Given the description of an element on the screen output the (x, y) to click on. 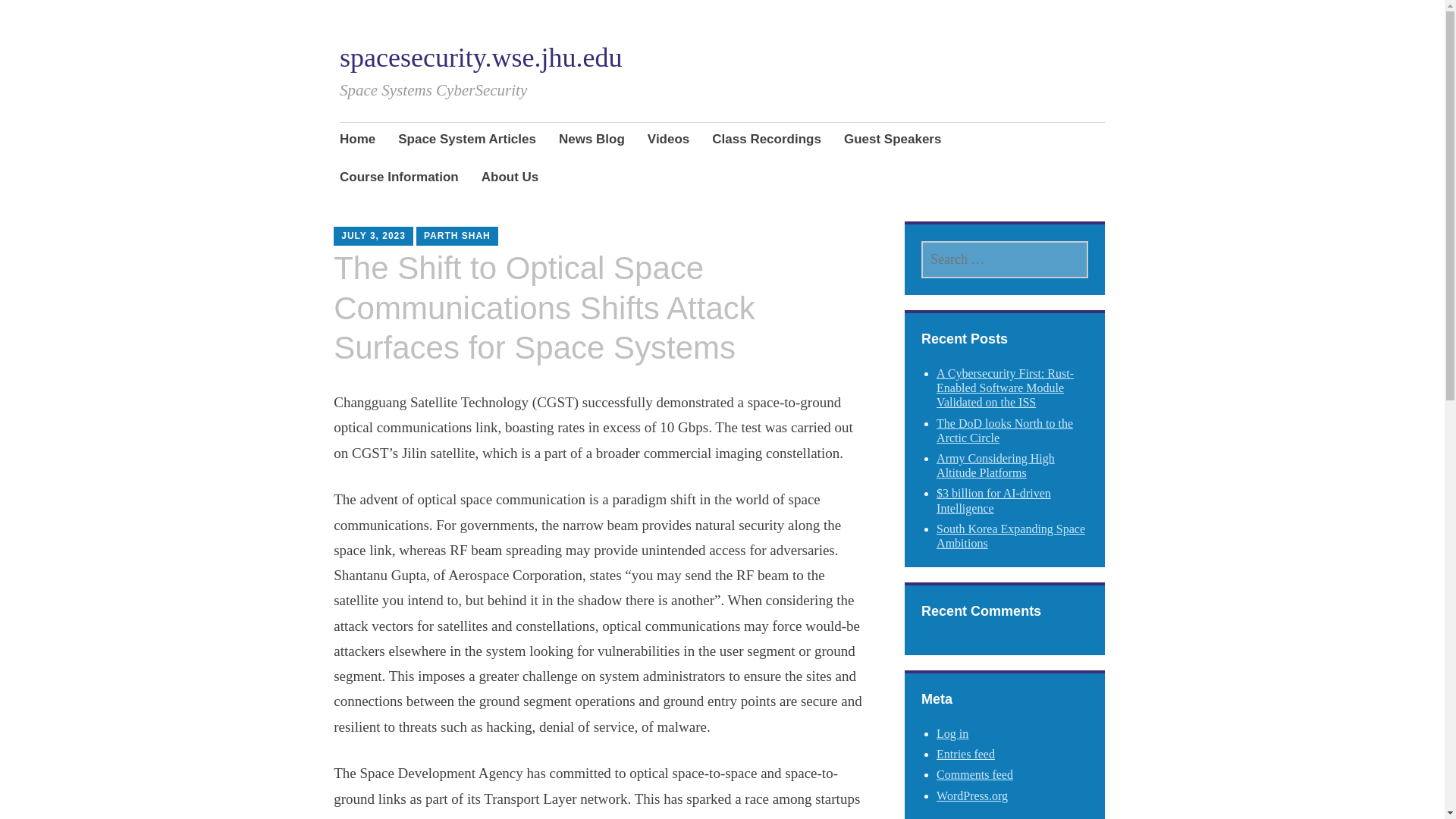
Home (357, 140)
spacesecurity.wse.jhu.edu (481, 57)
Army Considering High Altitude Platforms (995, 465)
News Blog (591, 140)
Log in (952, 733)
Search (173, 17)
Entries feed (965, 753)
The DoD looks North to the Arctic Circle (1004, 430)
Videos (667, 140)
About Us (509, 178)
WordPress.org (971, 795)
Course Information (398, 178)
Space System Articles (466, 140)
